Given the description of an element on the screen output the (x, y) to click on. 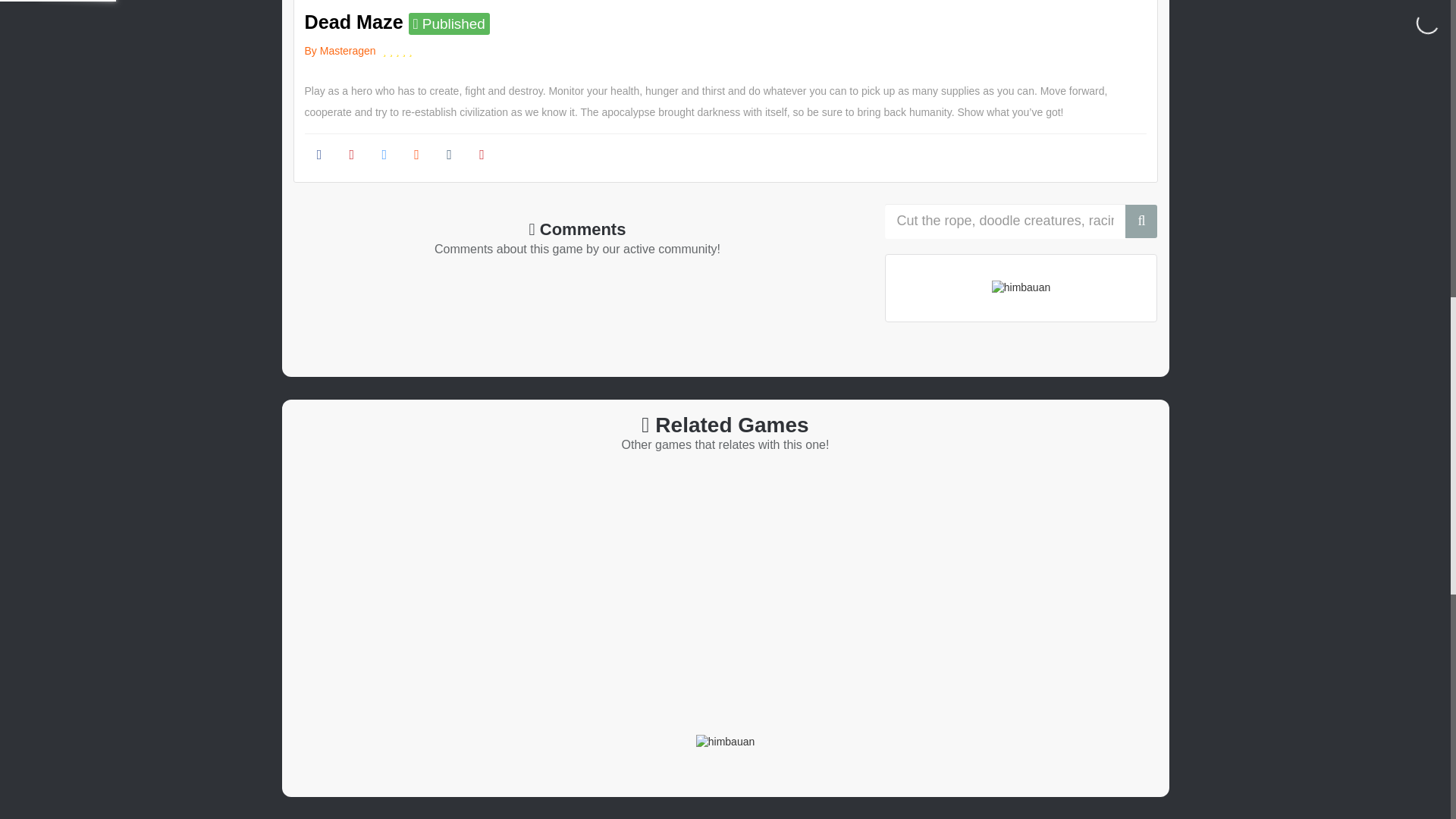
Share on googleplus (351, 155)
Share on facebook (319, 155)
Tweet this game (416, 155)
Tweet this game (481, 155)
Tweet this game (449, 155)
Tweet this game (384, 155)
